Given the description of an element on the screen output the (x, y) to click on. 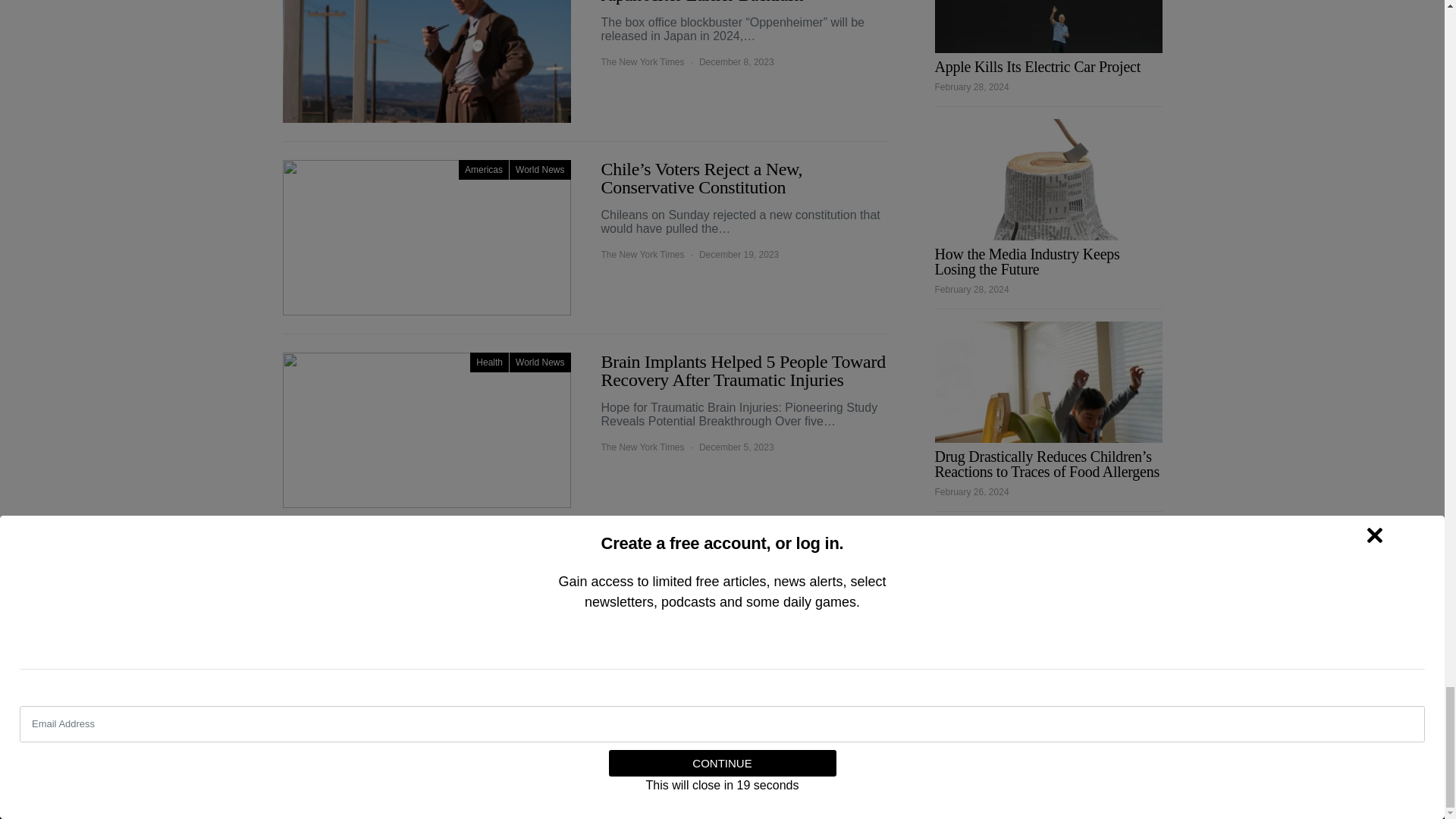
View all posts by The New York Times (641, 61)
View all posts by The New York Times (641, 254)
View all posts by The New York Times (641, 640)
View all posts by The New York Times (641, 447)
